Given the description of an element on the screen output the (x, y) to click on. 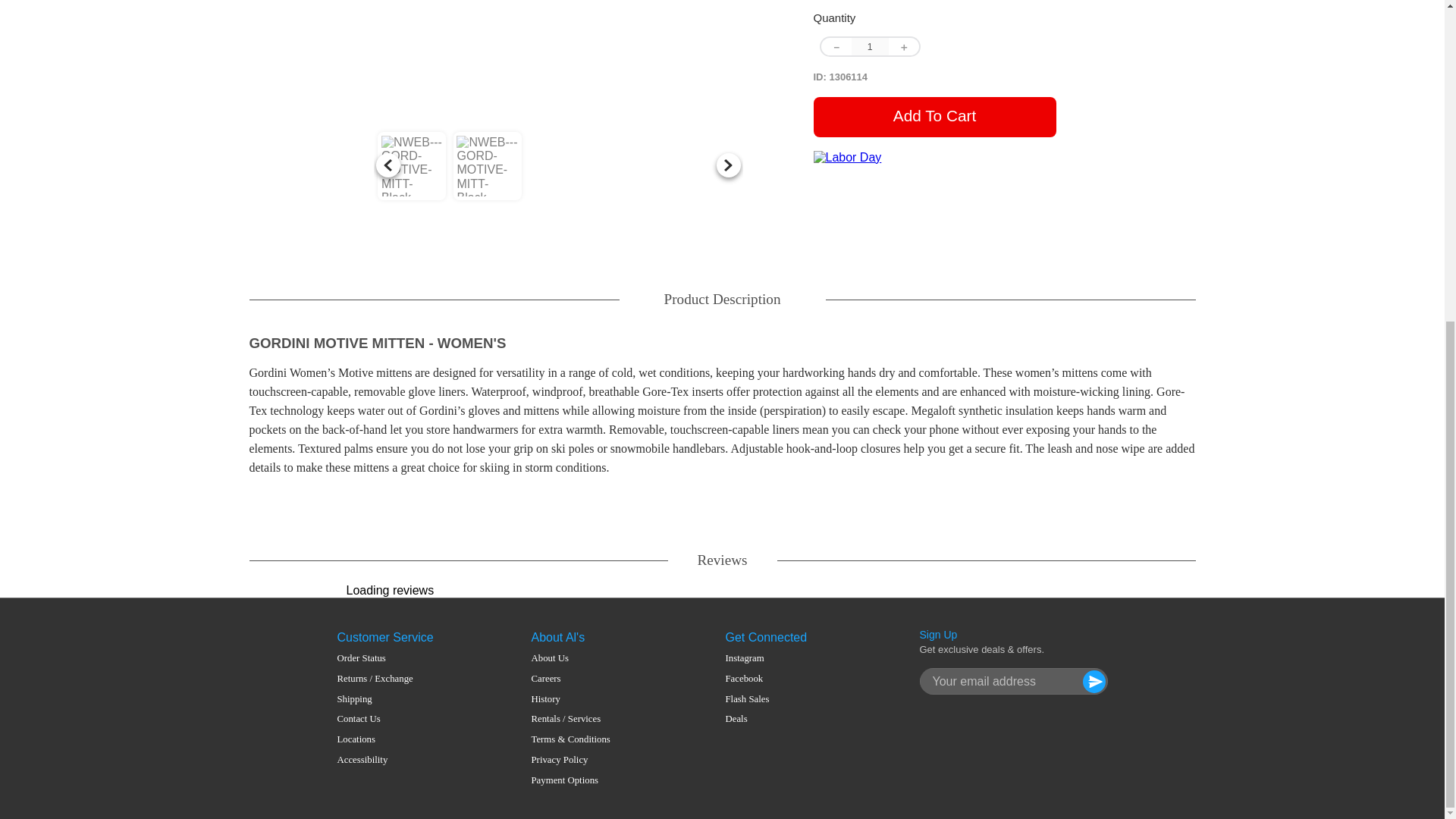
About Us (570, 658)
Contact Us (374, 718)
NWEB---GORD-MOTIVE-MITT-Black-S.jpg (558, 61)
Accessibility (374, 759)
1 (869, 46)
Order Status (374, 658)
Labor Day (933, 188)
Careers (570, 678)
Labor day (933, 157)
Shipping (374, 699)
